Given the description of an element on the screen output the (x, y) to click on. 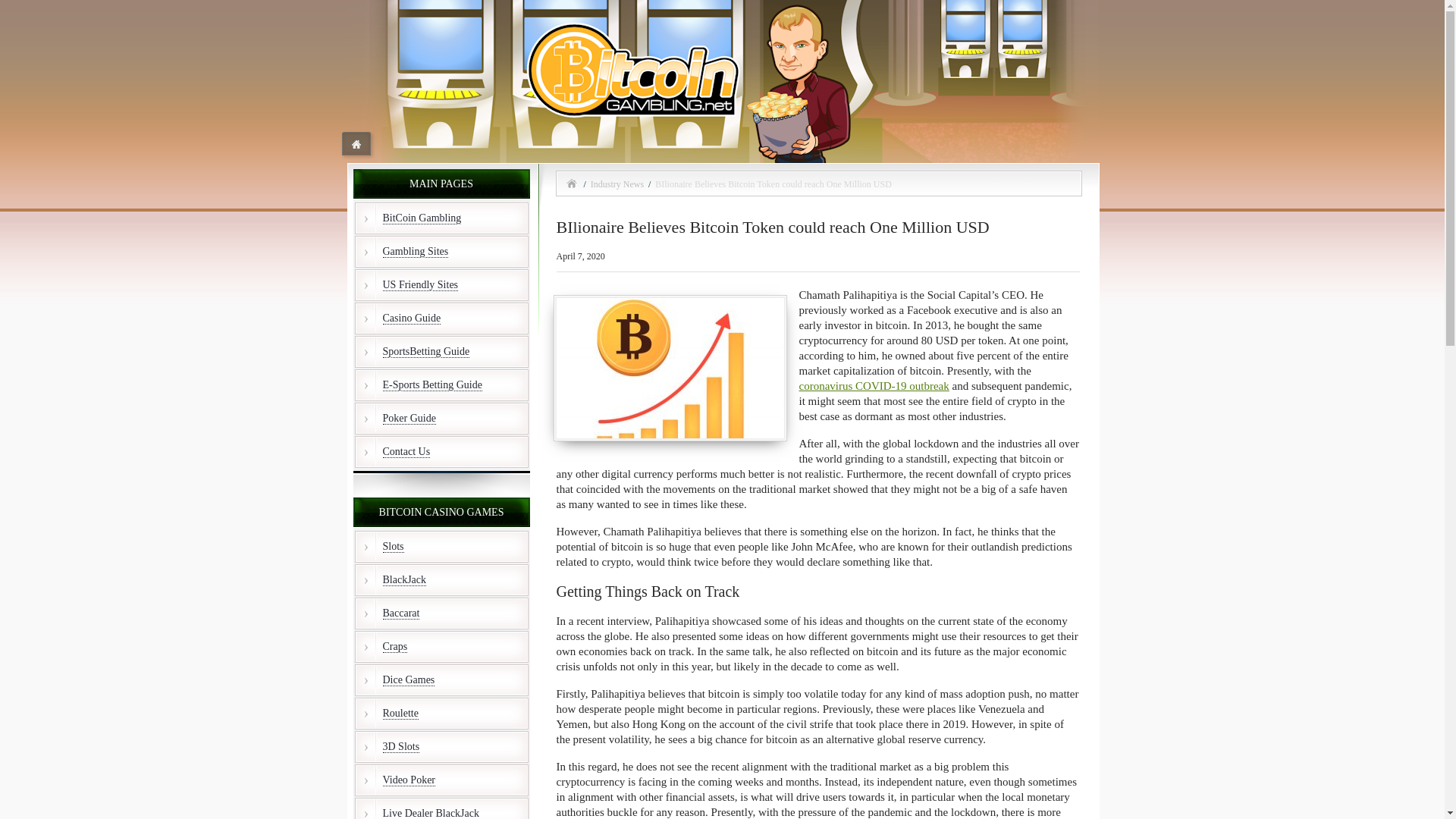
coronavirus COVID-19 outbreak (874, 386)
Casino Guide (441, 317)
Baccarat (441, 613)
Poker Guide (441, 418)
BitCoin Gambling (441, 217)
BlackJack (441, 579)
E-Sports Betting Guide (441, 385)
Gambling Sites (441, 251)
Industry News (614, 184)
Craps (441, 646)
SportsBetting Guide (441, 351)
Slots (441, 546)
US Friendly Sites (441, 285)
Dice Games (441, 679)
Contact Us (441, 451)
